Given the description of an element on the screen output the (x, y) to click on. 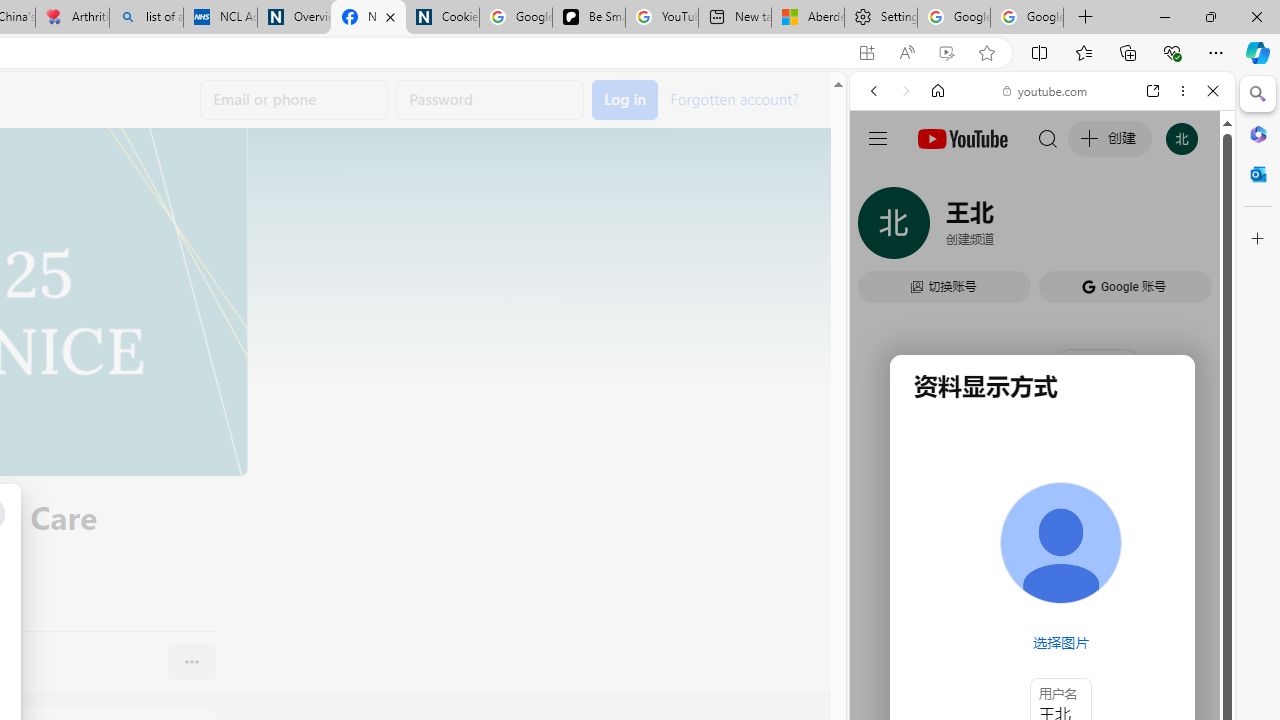
Enhance video (946, 53)
Forward (906, 91)
Trailer #2 [HD] (1042, 594)
Trailer #2 [HD] (1042, 592)
Google (947, 584)
This site scope (936, 180)
